Given the description of an element on the screen output the (x, y) to click on. 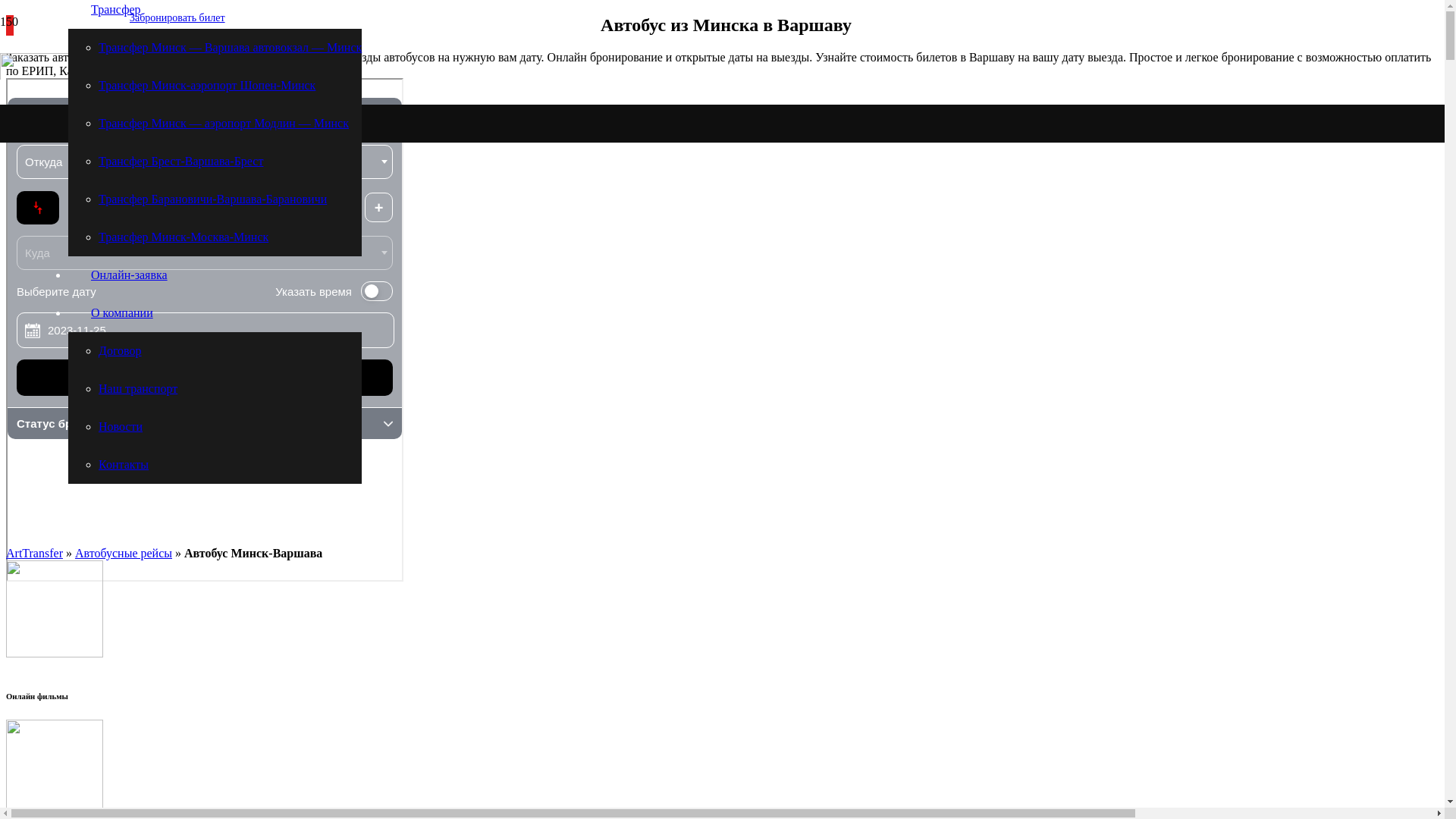
ArtTransfer Element type: text (34, 552)
+375 44 711-77-55 Element type: text (202, 66)
